Given the description of an element on the screen output the (x, y) to click on. 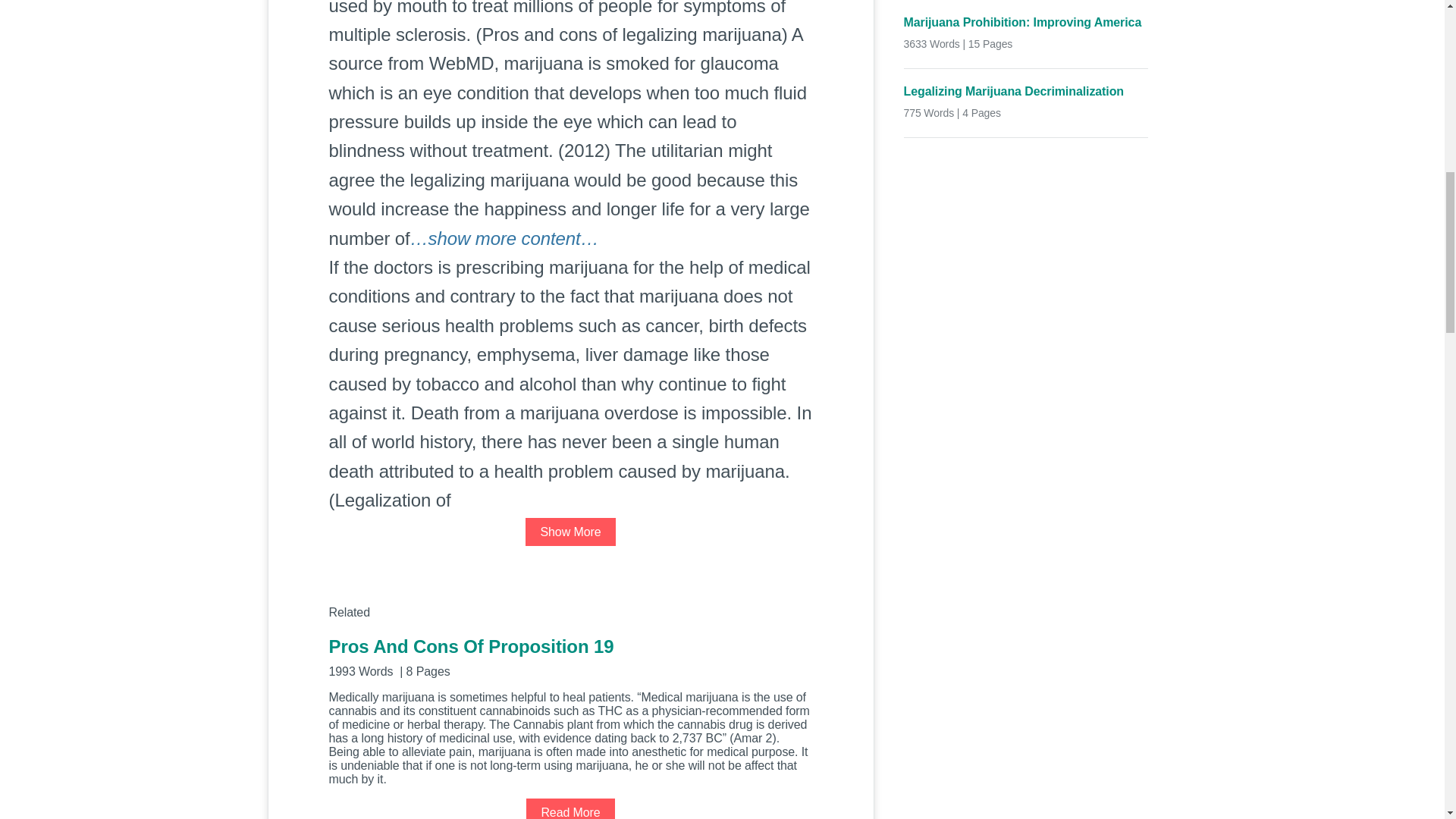
Legalizing Marijuana Decriminalization (1026, 91)
Read More (569, 808)
Show More (569, 531)
Pros And Cons Of Proposition 19 (570, 656)
Marijuana Prohibition: Improving America (1026, 22)
